Given the description of an element on the screen output the (x, y) to click on. 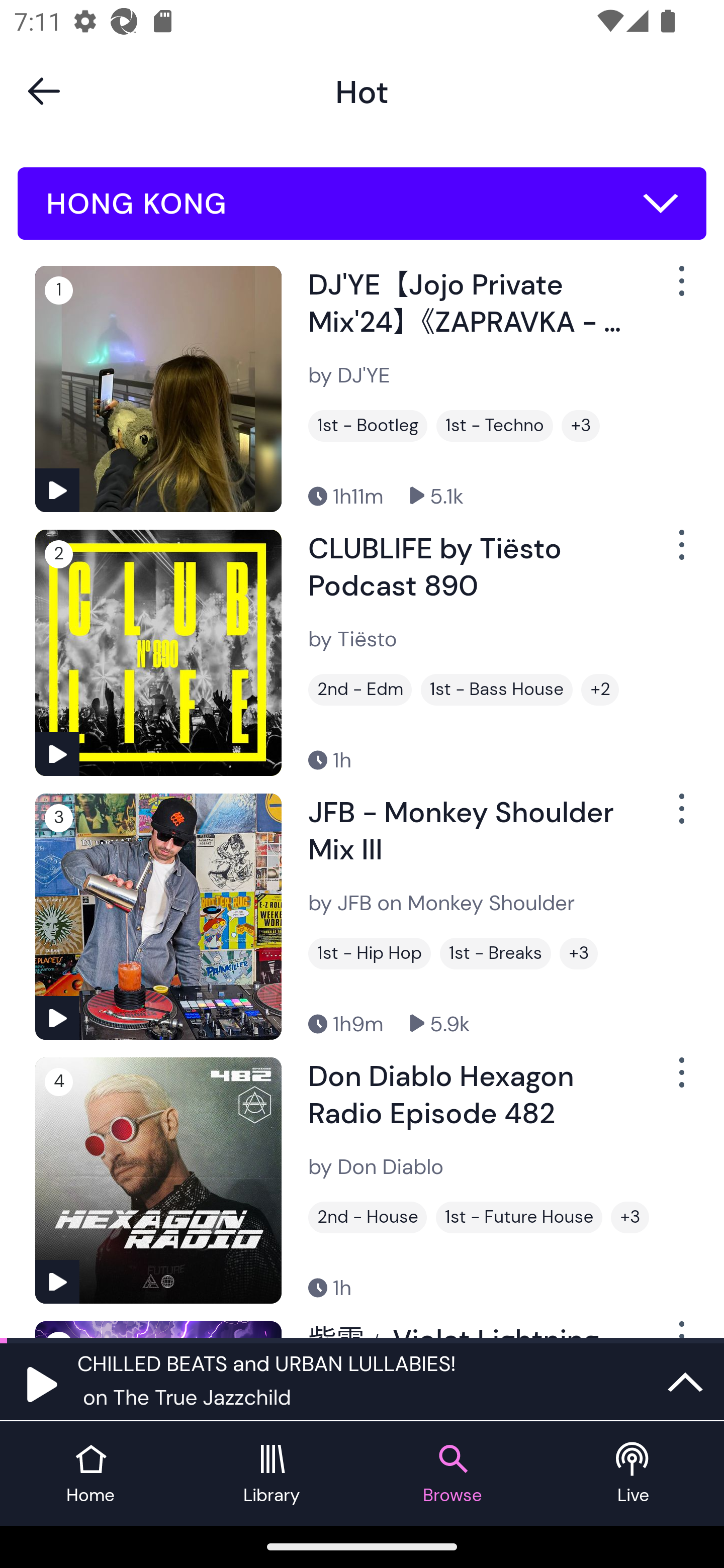
HONG KONG (361, 203)
Show Options Menu Button (679, 289)
1st - Bootleg (367, 426)
1st - Techno (494, 426)
Show Options Menu Button (679, 552)
2nd - Edm (359, 689)
1st - Bass House (496, 689)
Show Options Menu Button (679, 815)
1st - Hip Hop (369, 953)
1st - Breaks (495, 953)
Show Options Menu Button (679, 1079)
2nd - House (367, 1217)
1st - Future House (518, 1217)
Home tab Home (90, 1473)
Library tab Library (271, 1473)
Browse tab Browse (452, 1473)
Live tab Live (633, 1473)
